Given the description of an element on the screen output the (x, y) to click on. 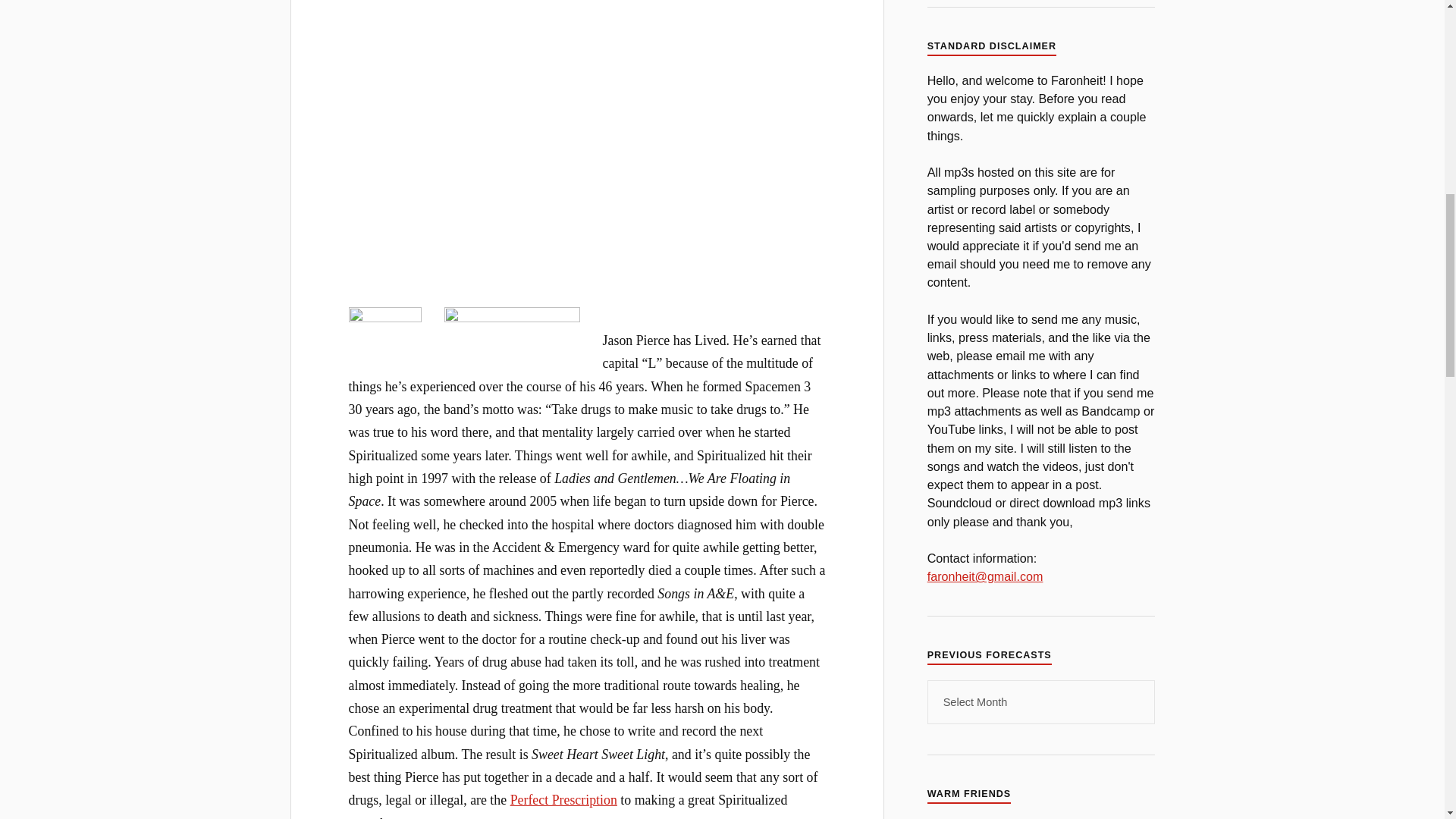
Perfect Prescription (564, 799)
Spiritualized (488, 135)
Heat Wave (511, 324)
87 (385, 324)
